Given the description of an element on the screen output the (x, y) to click on. 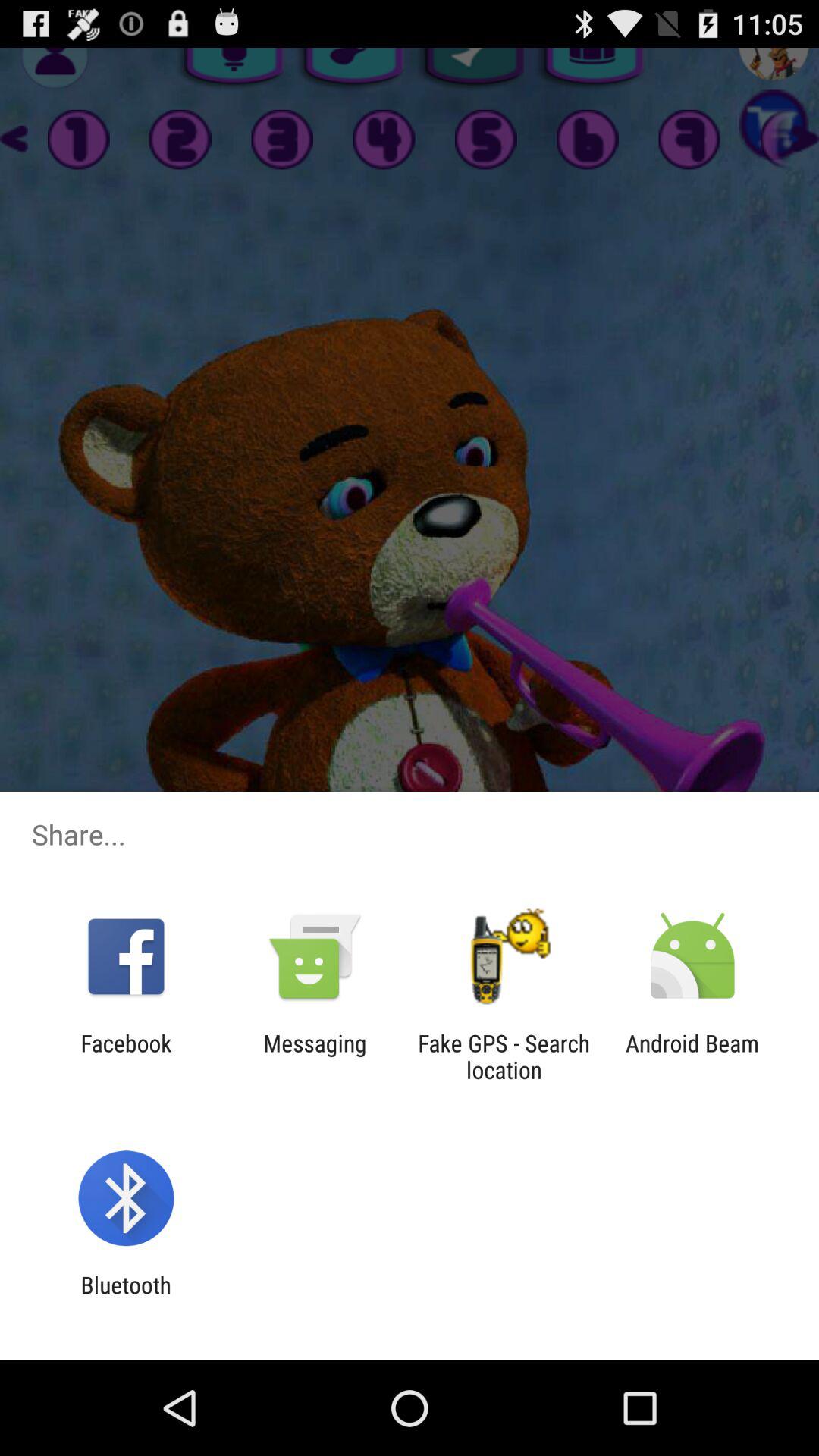
open the app to the right of the fake gps search app (692, 1056)
